Given the description of an element on the screen output the (x, y) to click on. 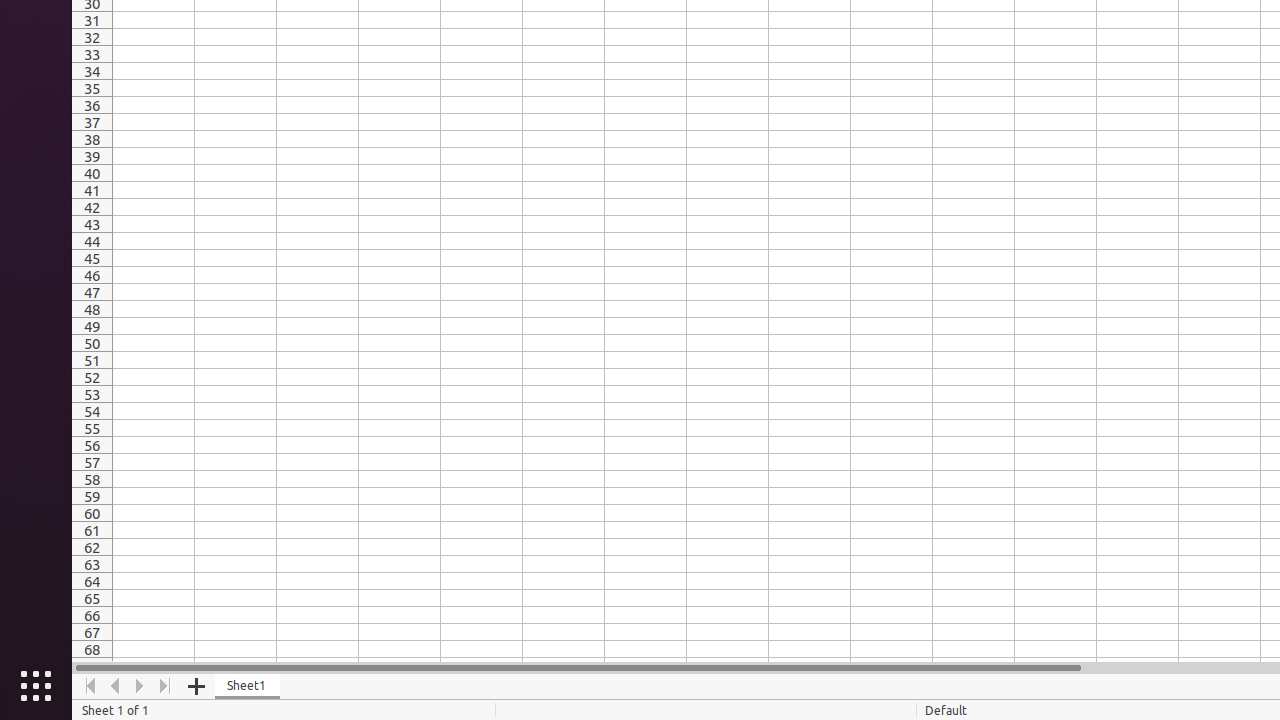
Move To End Element type: push-button (165, 686)
Move To Home Element type: push-button (90, 686)
Show Applications Element type: toggle-button (36, 686)
Move Left Element type: push-button (115, 686)
Move Right Element type: push-button (140, 686)
